Given the description of an element on the screen output the (x, y) to click on. 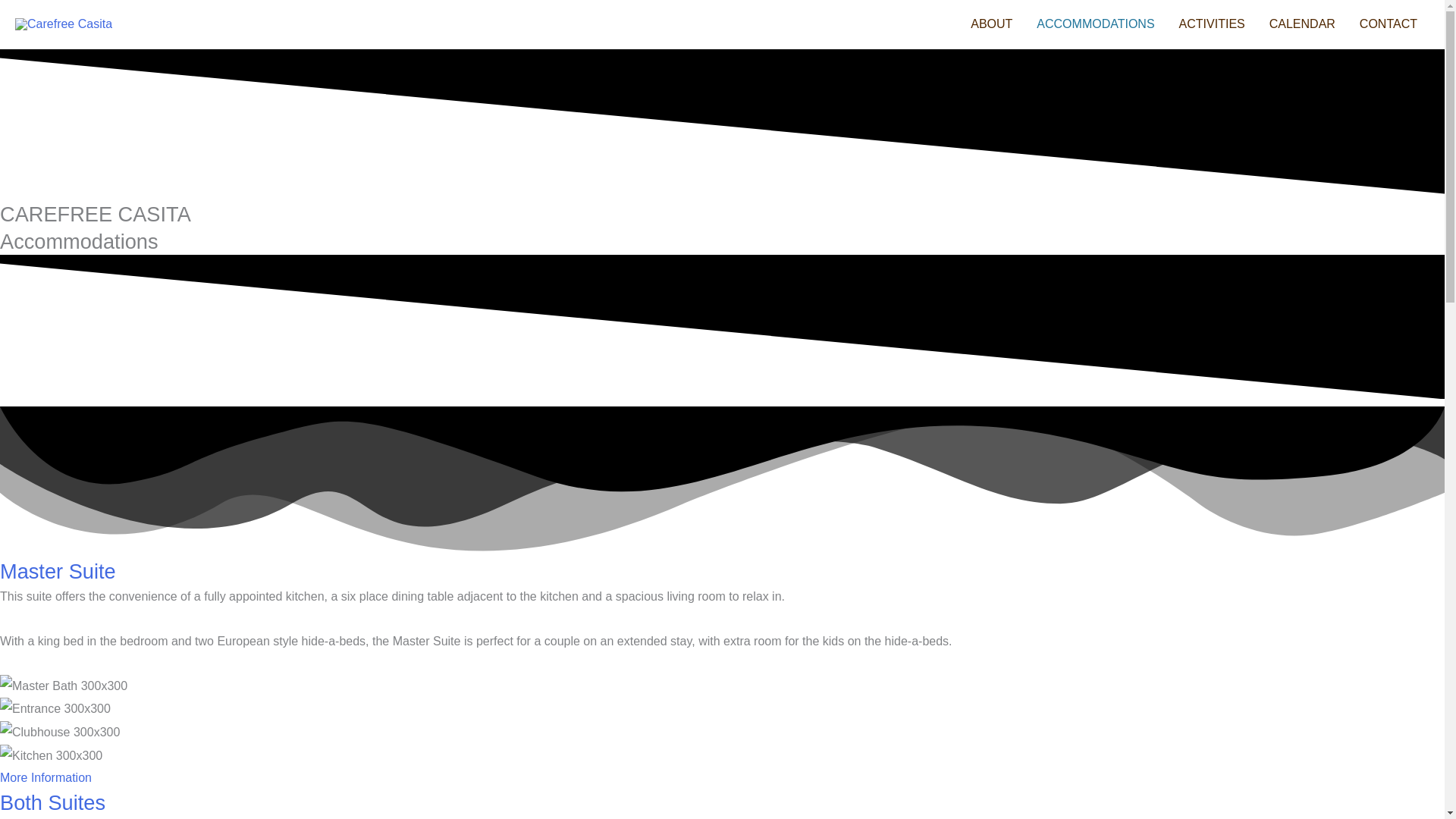
Master Suite (58, 571)
CALENDAR (1302, 24)
ACTIVITIES (1212, 24)
ABOUT (991, 24)
More Information (45, 777)
ACCOMMODATIONS (1095, 24)
Both Suites (52, 802)
CONTACT (1388, 24)
